Given the description of an element on the screen output the (x, y) to click on. 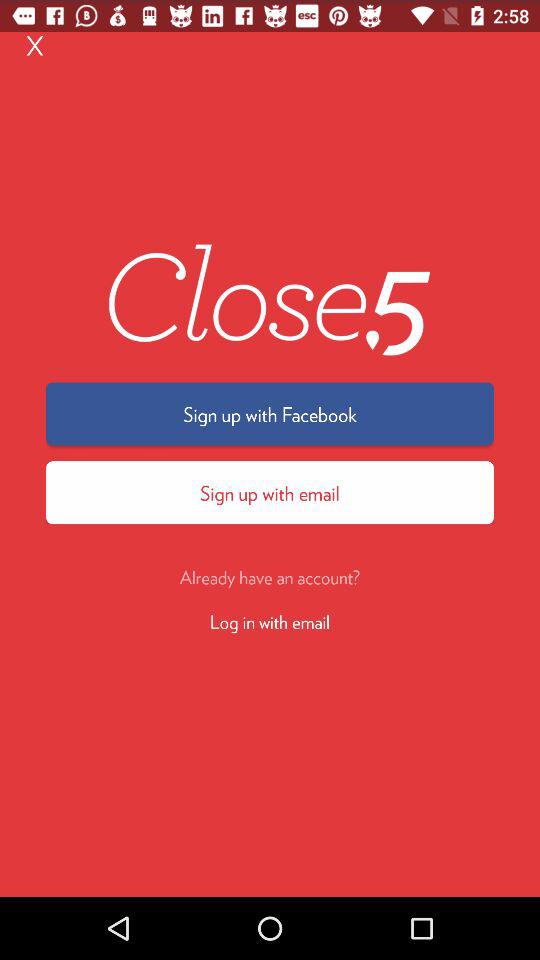
press the x at the top left corner (35, 44)
